Given the description of an element on the screen output the (x, y) to click on. 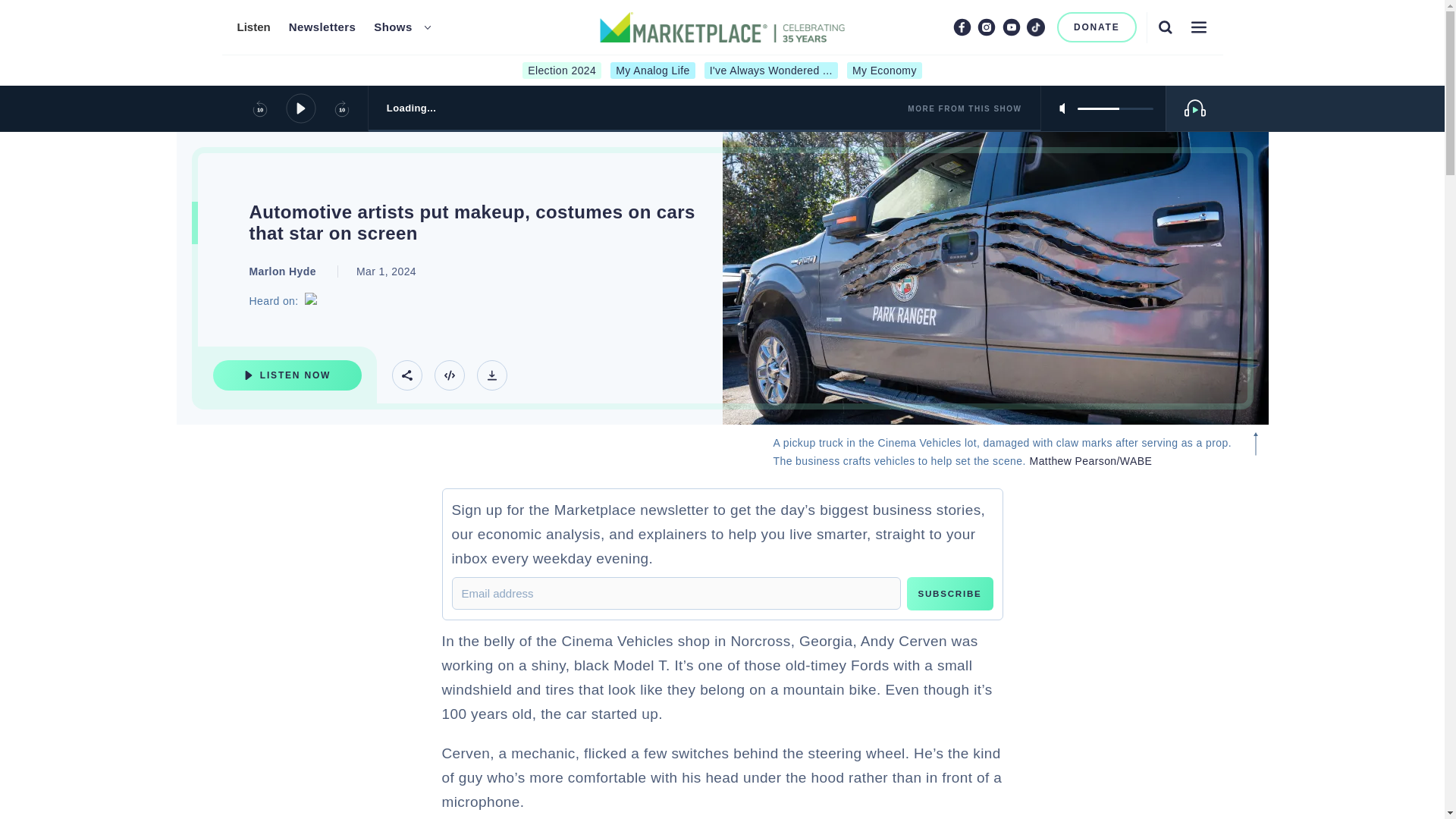
DONATE (1097, 27)
Listen Now (286, 374)
Menu (1198, 27)
Download Track (491, 374)
Facebook (962, 27)
TikTok (1035, 27)
volume (1115, 108)
Youtube (1011, 27)
Shows (393, 26)
